Given the description of an element on the screen output the (x, y) to click on. 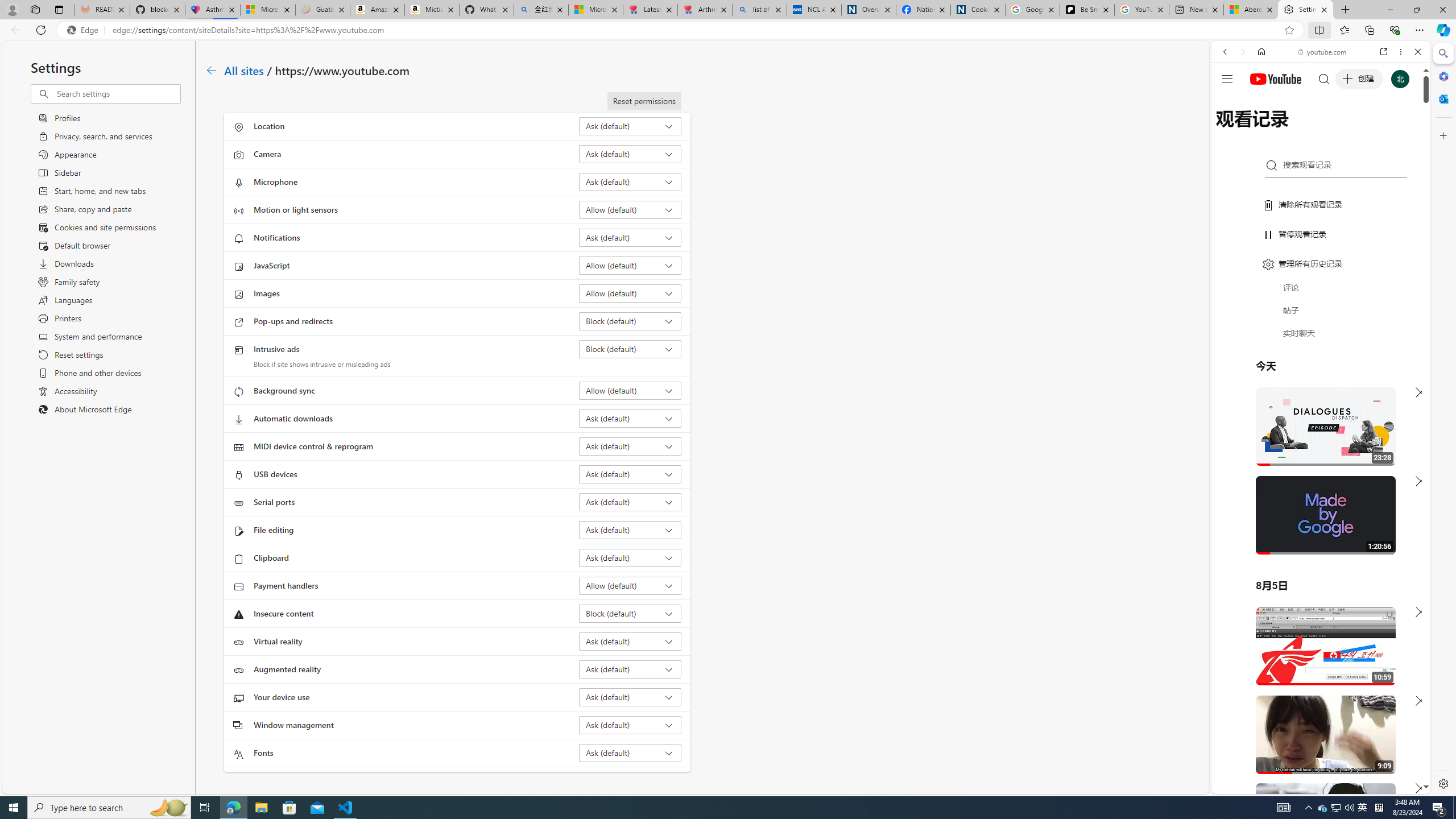
Actions for this site (1371, 661)
Virtual reality Ask (default) (630, 641)
Home (1261, 51)
youtube.com (1322, 51)
WEB   (1230, 130)
